Given the description of an element on the screen output the (x, y) to click on. 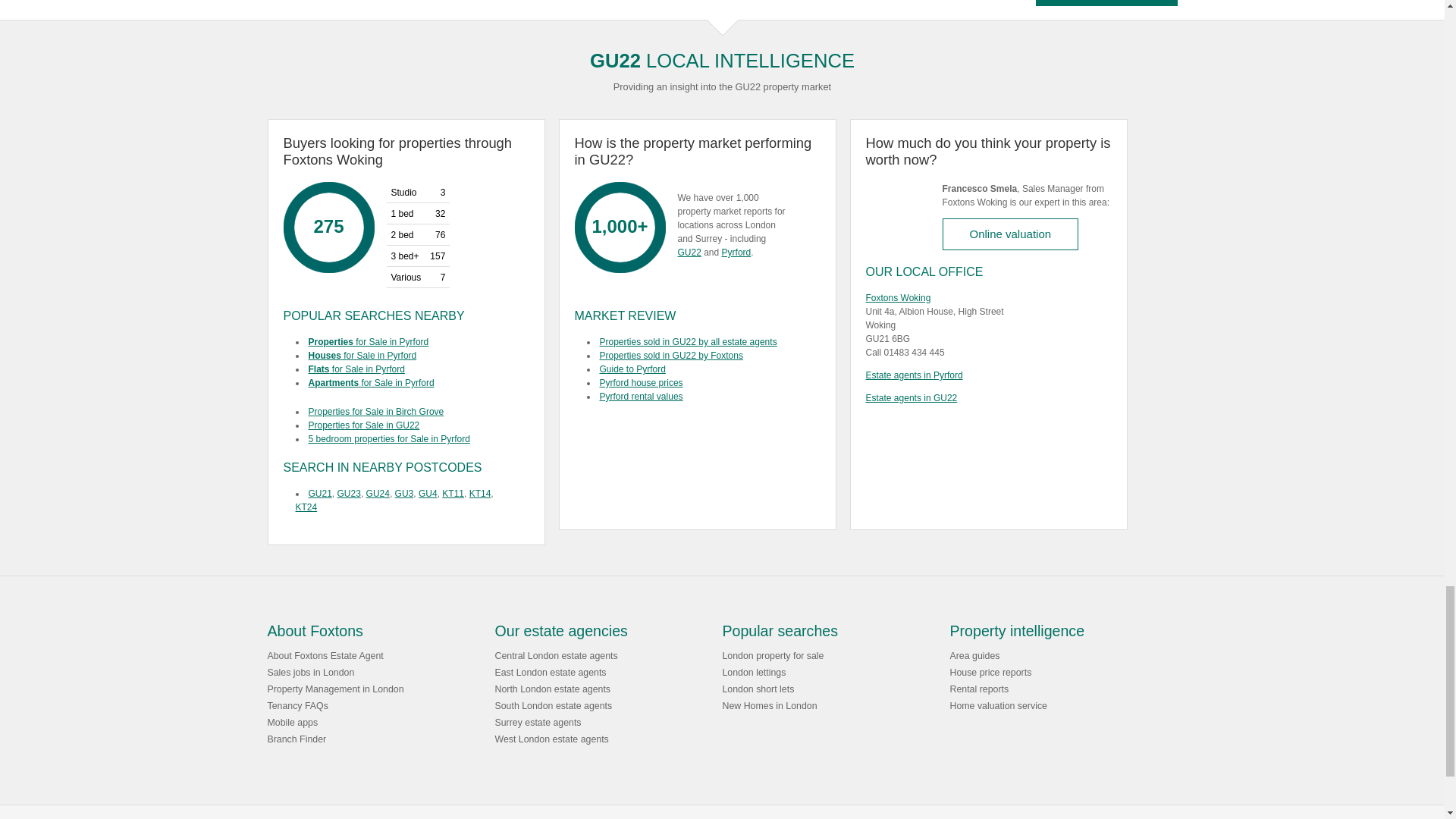
Pyrford properties (405, 341)
Houses in Pyrford (405, 355)
Apartments in Pyrford (405, 382)
Flats in Pyrford (405, 368)
